Given the description of an element on the screen output the (x, y) to click on. 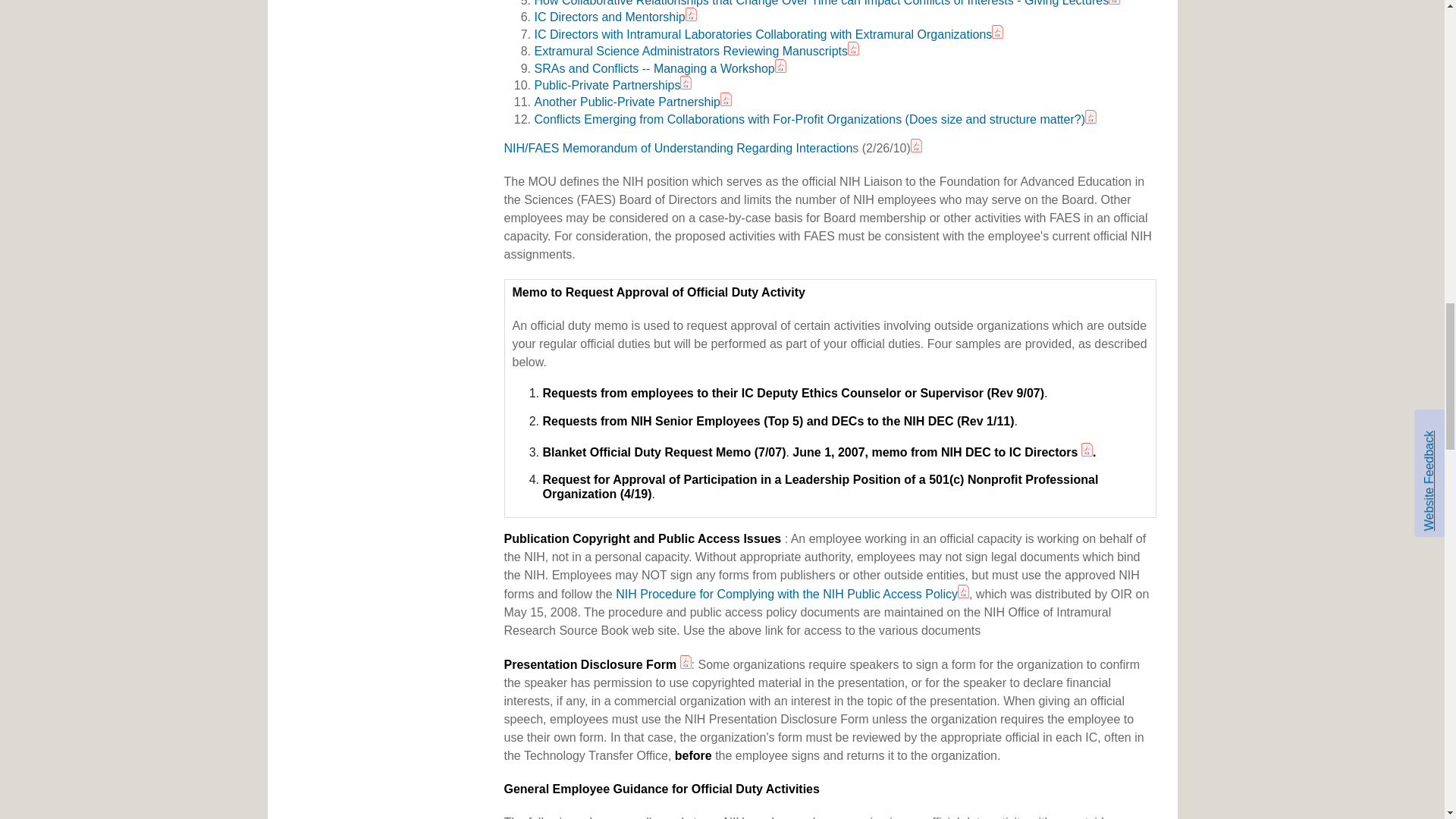
IC Directors and Mentorship (609, 16)
